Given the description of an element on the screen output the (x, y) to click on. 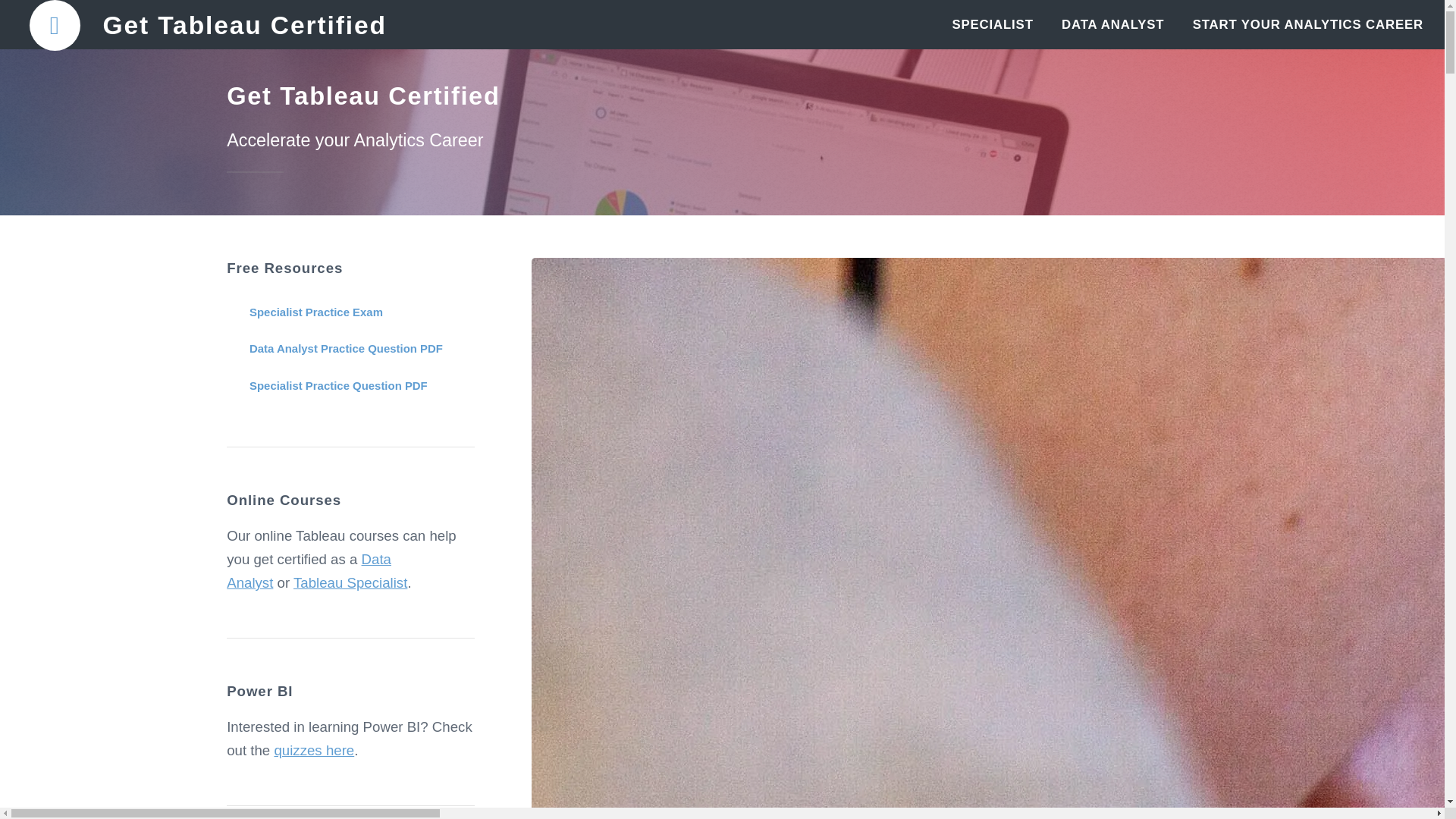
START YOUR ANALYTICS CAREER (1307, 24)
DATA ANALYST (1112, 24)
Get Tableau Certified (243, 24)
SPECIALIST (992, 24)
